Given the description of an element on the screen output the (x, y) to click on. 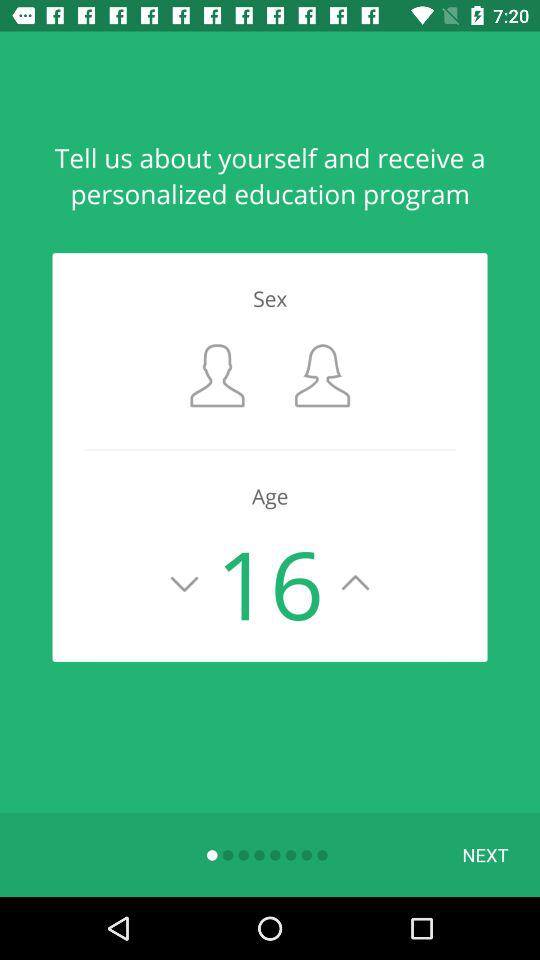
scale down the age value by one year (184, 583)
